Given the description of an element on the screen output the (x, y) to click on. 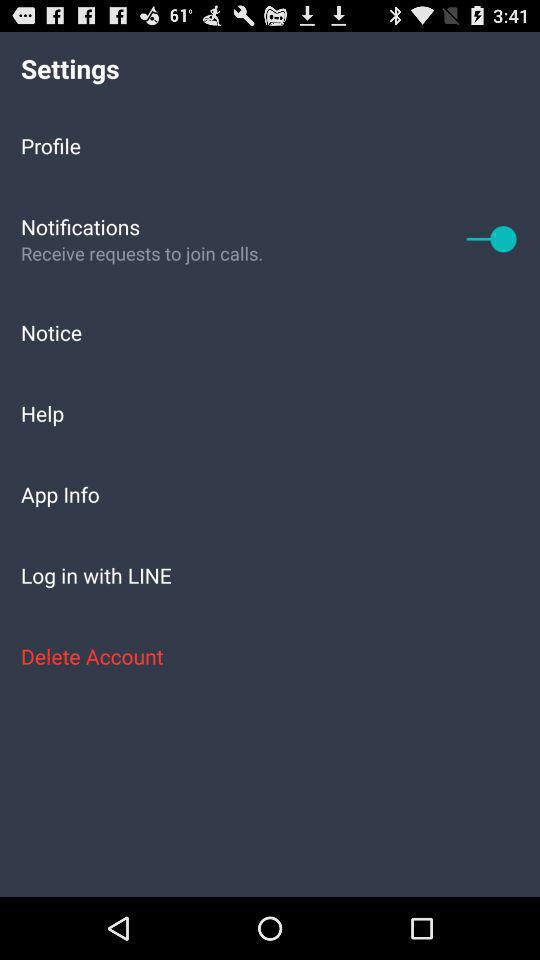
click icon below the log in with item (270, 655)
